Given the description of an element on the screen output the (x, y) to click on. 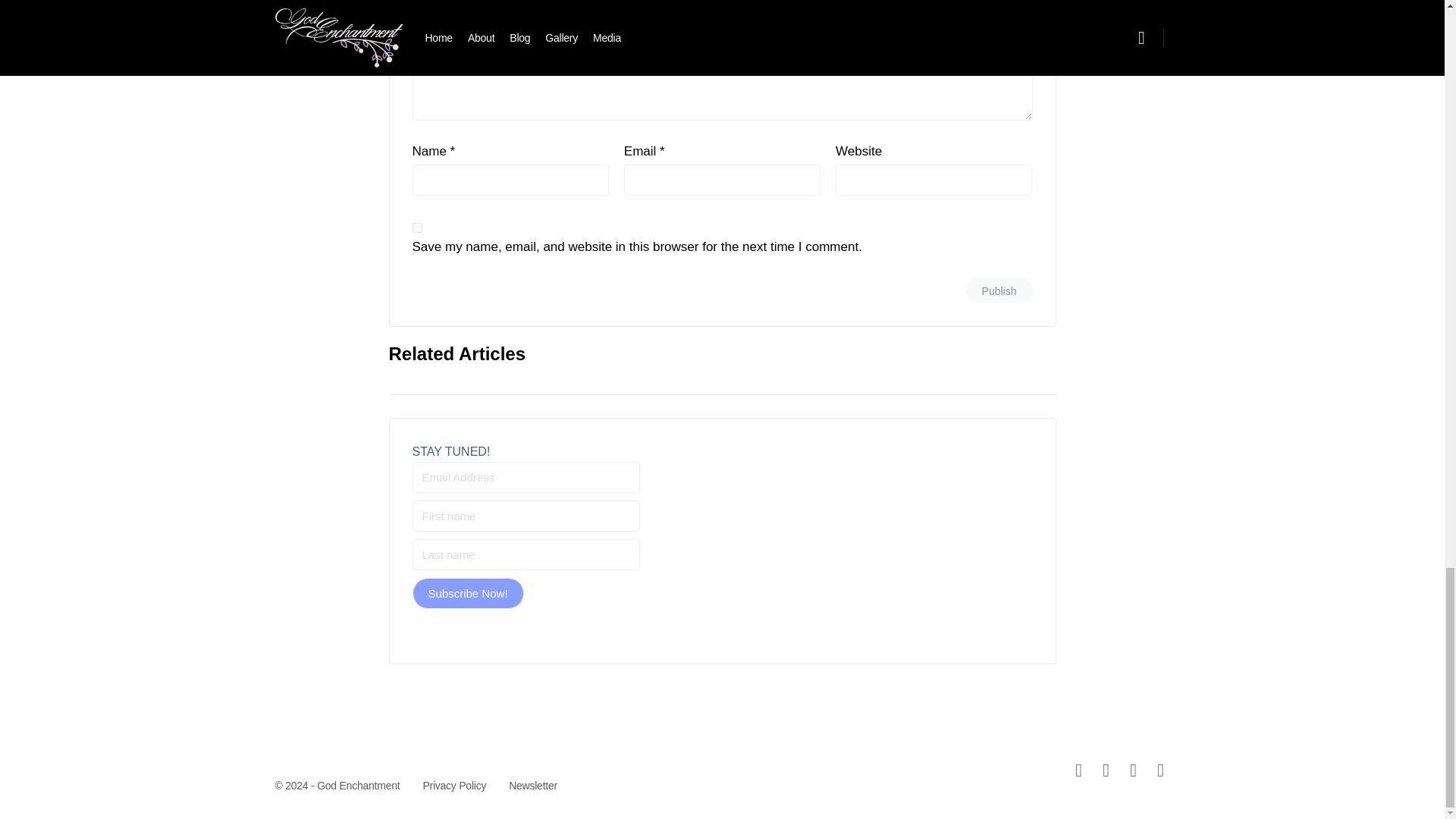
Subscribe Now! (468, 593)
yes (417, 227)
Publish (999, 290)
